Given the description of an element on the screen output the (x, y) to click on. 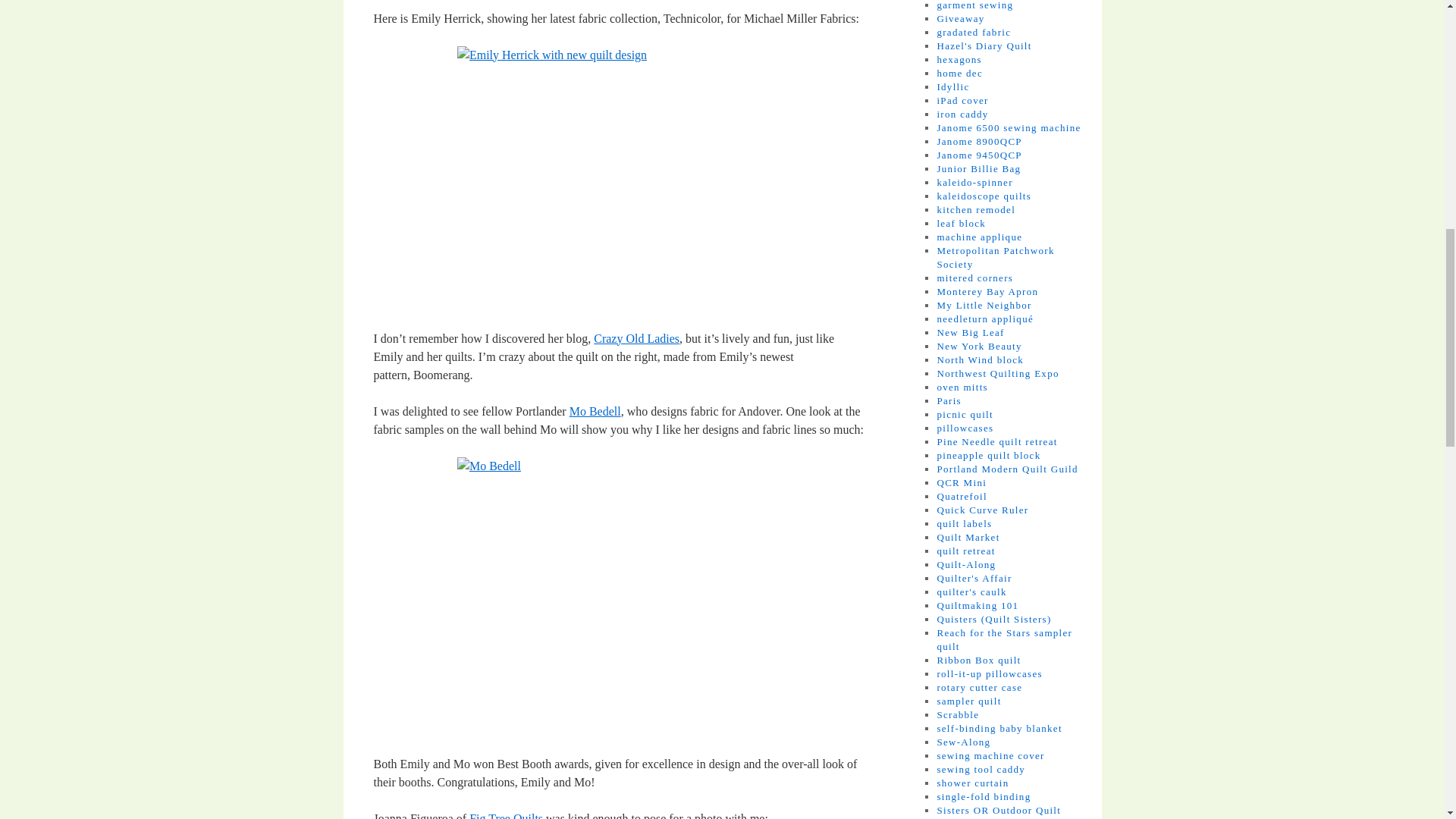
Fig Tree Quilts (505, 815)
Crazy Old Ladies (636, 338)
Mo Bedell (595, 410)
